Given the description of an element on the screen output the (x, y) to click on. 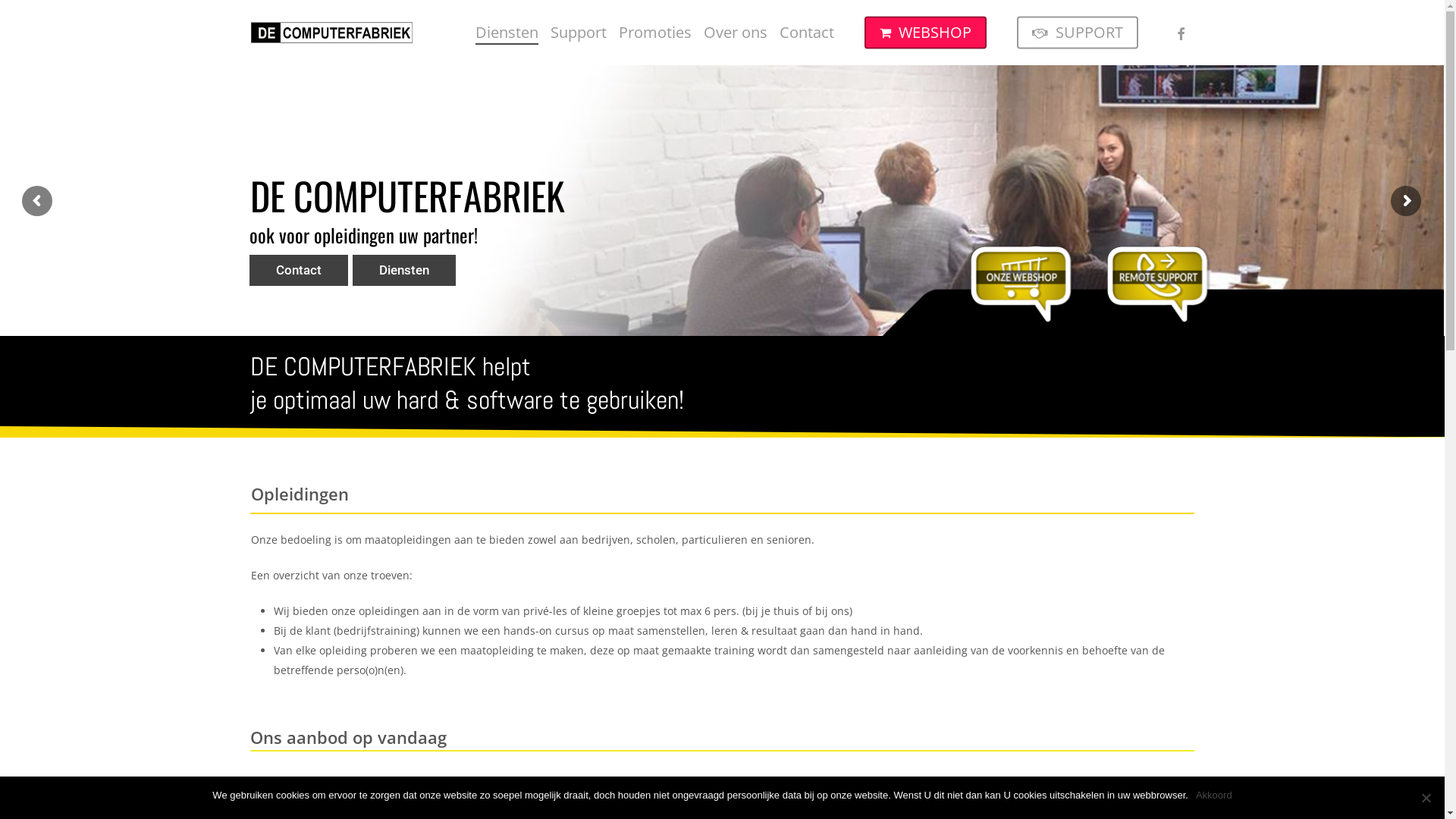
facebook Element type: text (1180, 32)
Geen cookies Element type: hover (1425, 797)
SUPPORT Element type: text (1077, 32)
Over ons Element type: text (735, 32)
Diensten Element type: text (403, 269)
Opleiding Element type: text (739, 793)
Support Element type: text (578, 32)
Promoties Element type: text (654, 32)
Contact Element type: text (298, 269)
Contact Element type: text (806, 32)
WEBSHOP Element type: text (925, 32)
Akkoord Element type: text (1213, 795)
All Element type: text (685, 793)
Diensten Element type: text (506, 32)
